Given the description of an element on the screen output the (x, y) to click on. 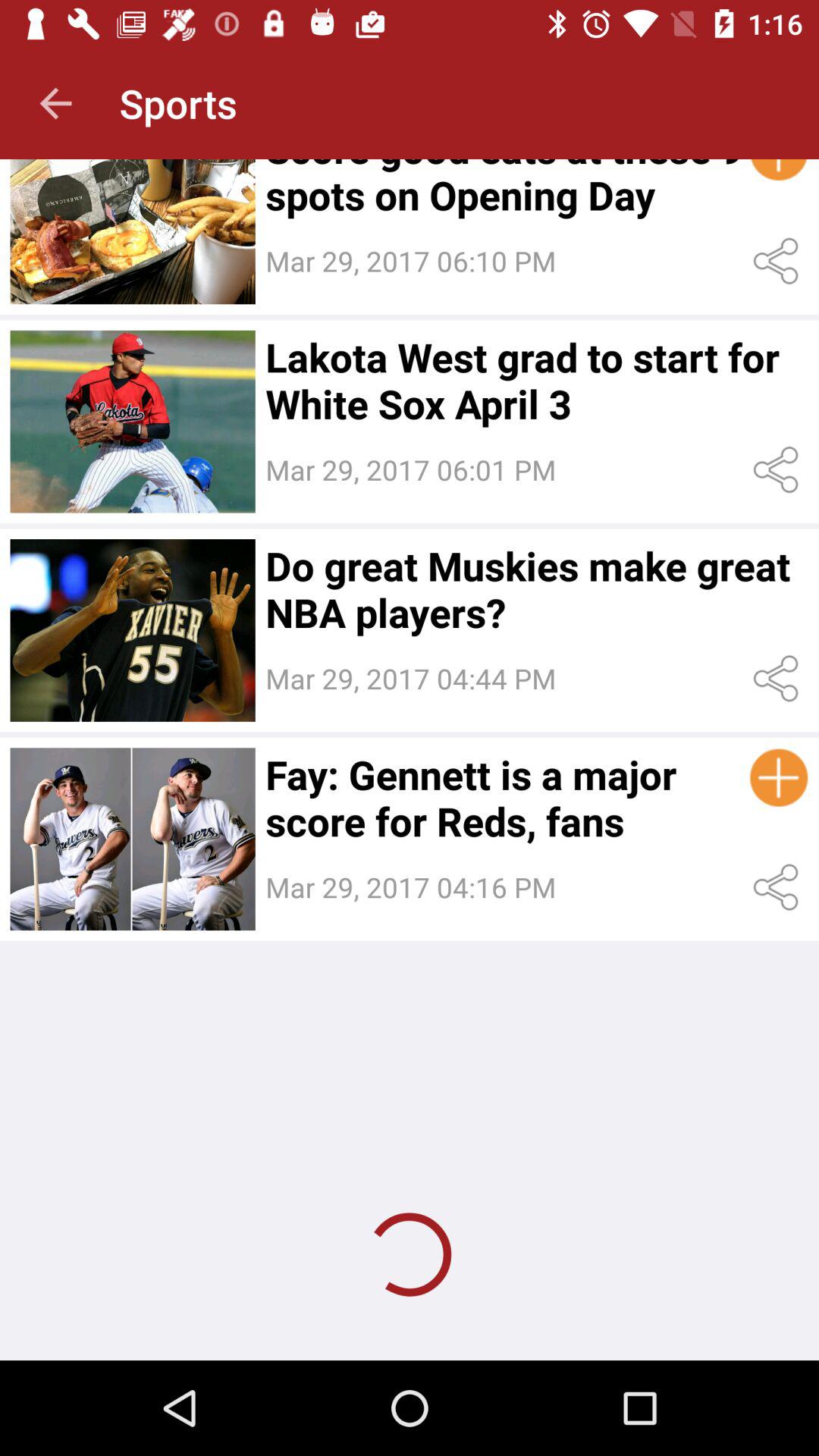
click to read article (132, 421)
